Given the description of an element on the screen output the (x, y) to click on. 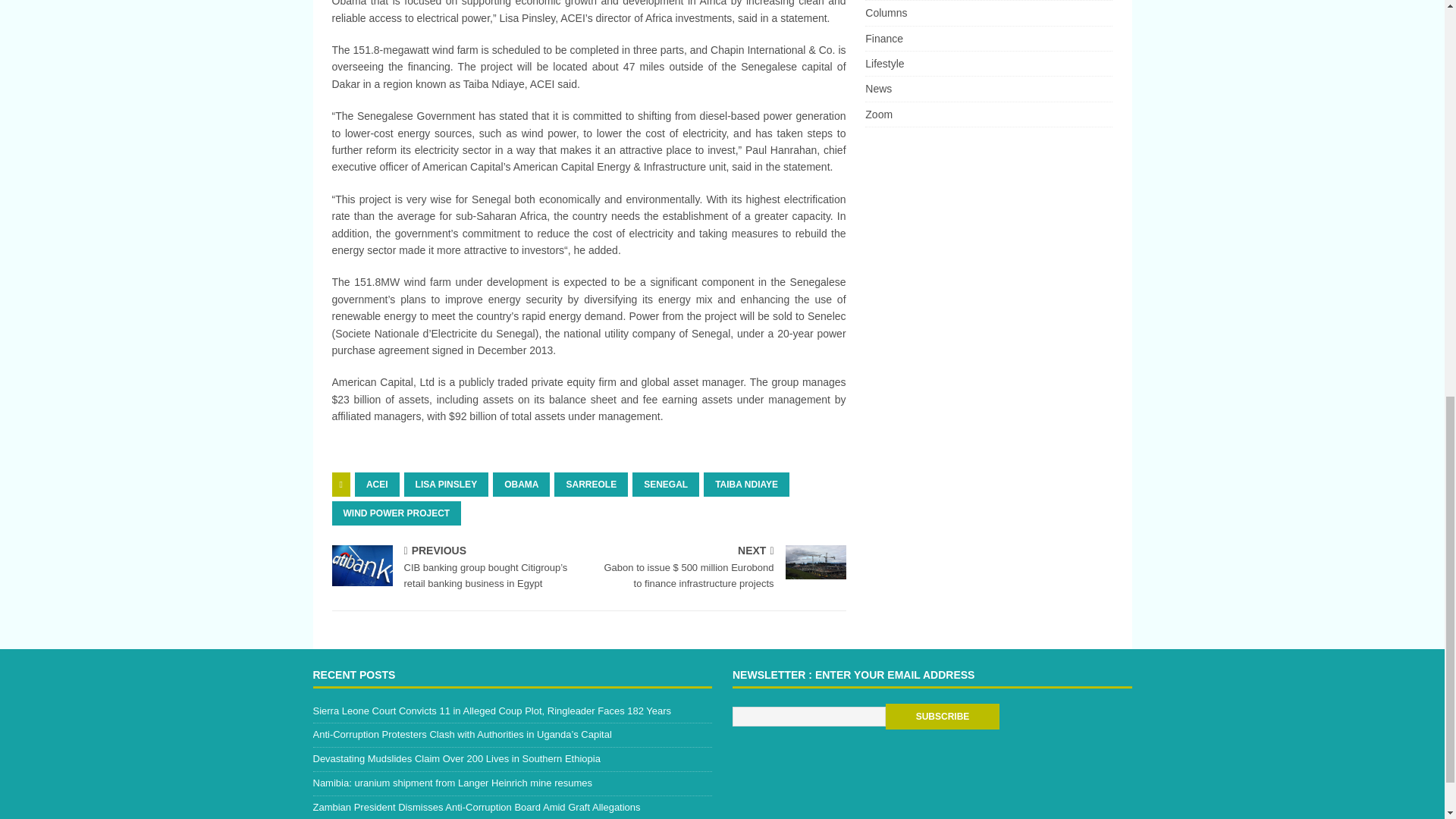
LISA PINSLEY (446, 484)
SARREOLE (590, 484)
SENEGAL (664, 484)
Subscribe (941, 716)
OBAMA (521, 484)
TAIBA NDIAYE (746, 484)
WIND POWER PROJECT (396, 513)
ACEI (376, 484)
